Given the description of an element on the screen output the (x, y) to click on. 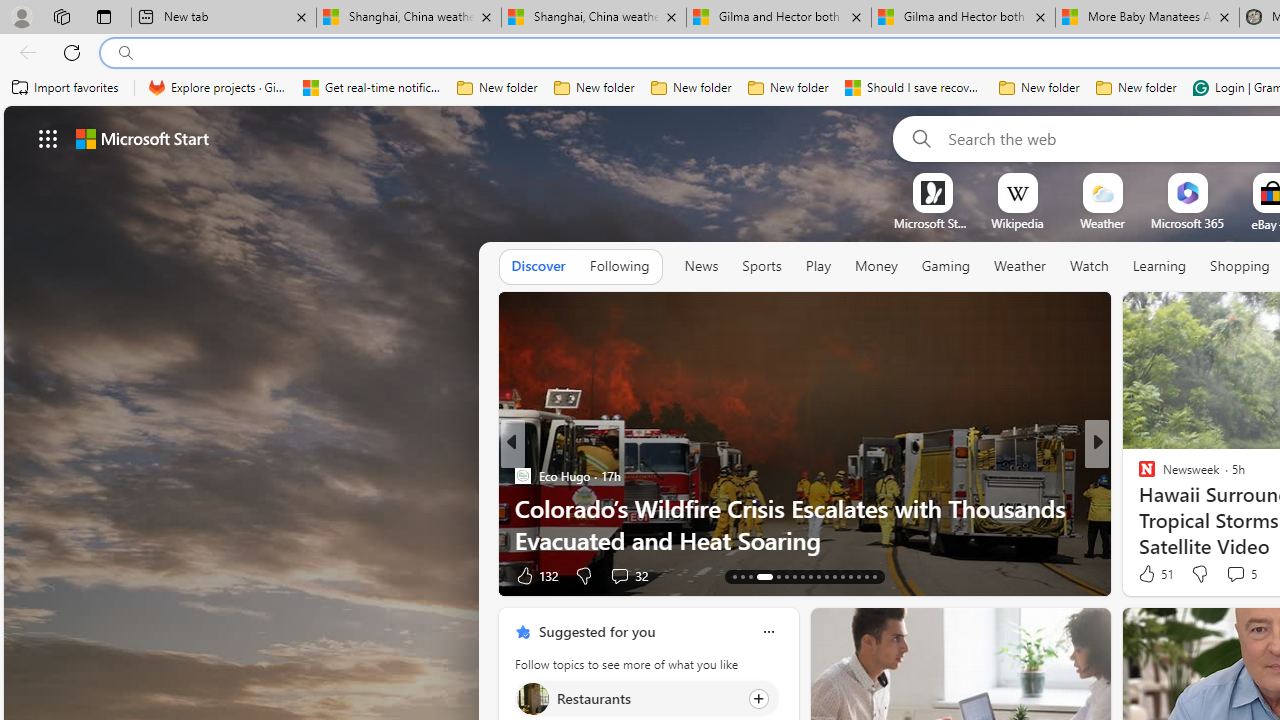
AutomationID: tab-21 (774, 576)
PsychLove (1138, 475)
Viral Tech (1138, 507)
Microsoft Start Gaming (932, 223)
AutomationID: tab-27 (825, 576)
Fox Weather (1138, 475)
View comments 7 Comment (1234, 574)
AutomationID: tab-22 (786, 576)
View comments 7 Comment (1229, 575)
38 Like (1149, 574)
View comments 1k Comment (620, 574)
Planning to Organize (1138, 475)
